Given the description of an element on the screen output the (x, y) to click on. 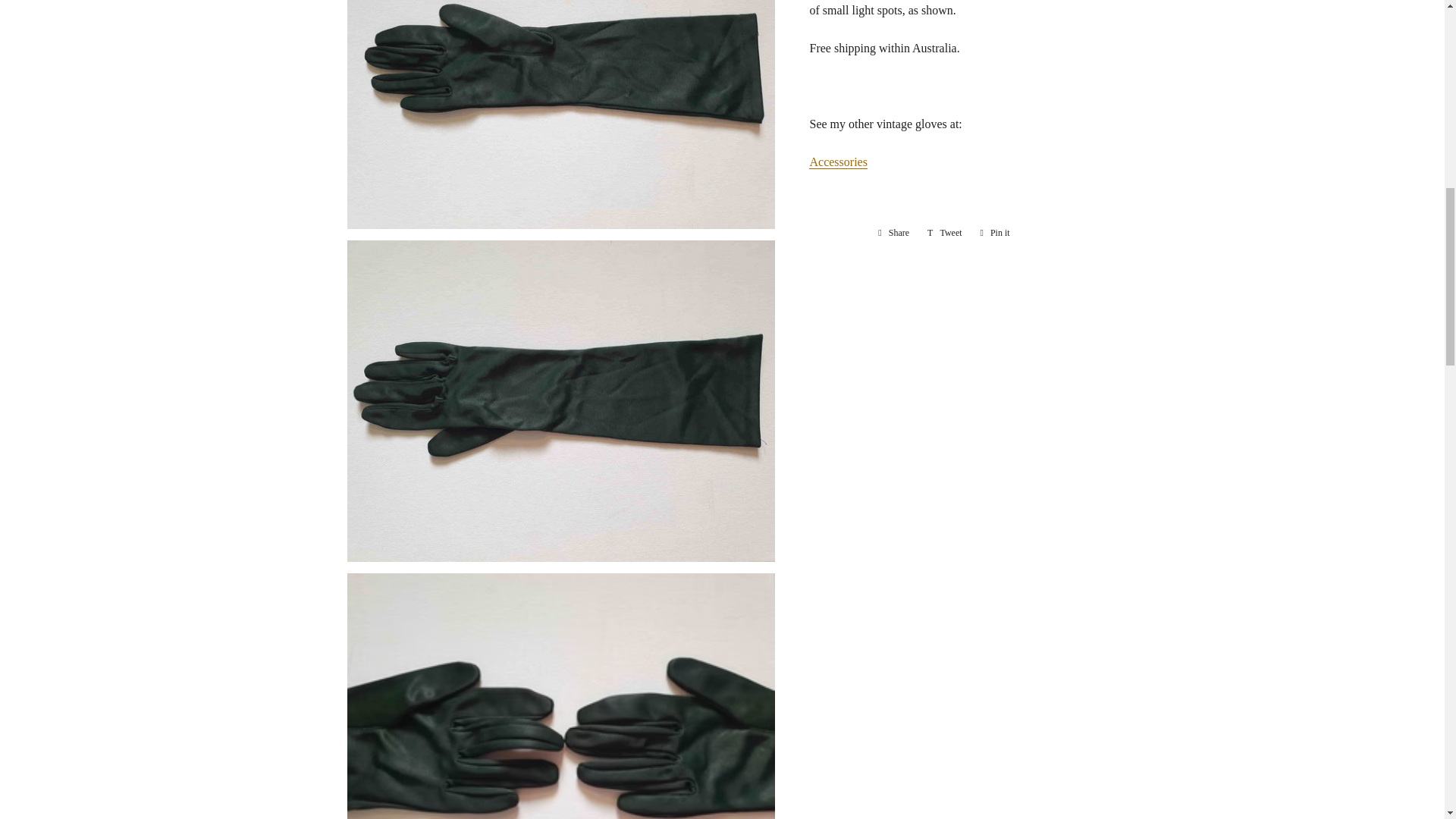
Tweet on Twitter (944, 232)
Pin on Pinterest (994, 232)
Share on Facebook (893, 232)
Accessories (893, 232)
